Given the description of an element on the screen output the (x, y) to click on. 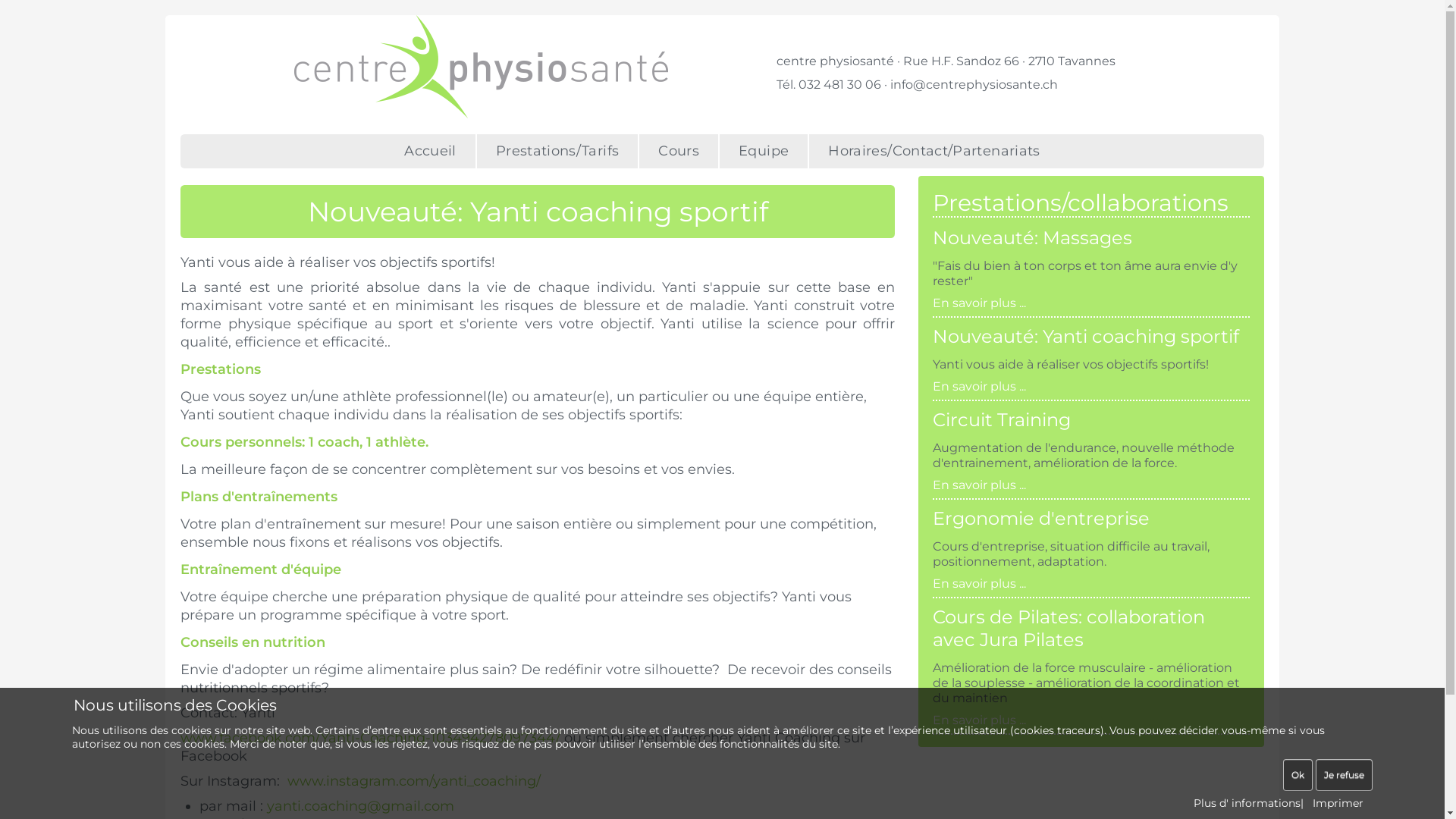
Accueil Element type: text (430, 151)
info@centrephysiosante.ch Element type: text (973, 84)
yanti.coaching@gmail.com Element type: text (360, 805)
En savoir plus ... Element type: text (979, 583)
Equipe Element type: text (764, 151)
Prestations/Tarifs Element type: text (557, 151)
En savoir plus ... Element type: text (979, 386)
En savoir plus ... Element type: text (979, 302)
Ok Element type: text (1297, 774)
Imprimer Element type: text (1337, 802)
Horaires/Contact/Partenariats Element type: text (933, 151)
www.instagram.com/yanti_coaching/ Element type: text (413, 780)
www.facebook.com/Yanti-Coaching-103494278097344/ Element type: text (370, 737)
Cours Element type: text (679, 151)
Je refuse Element type: text (1343, 774)
Plus d' informations Element type: text (1246, 802)
En savoir plus ... Element type: text (979, 719)
En savoir plus ... Element type: text (979, 484)
